Given the description of an element on the screen output the (x, y) to click on. 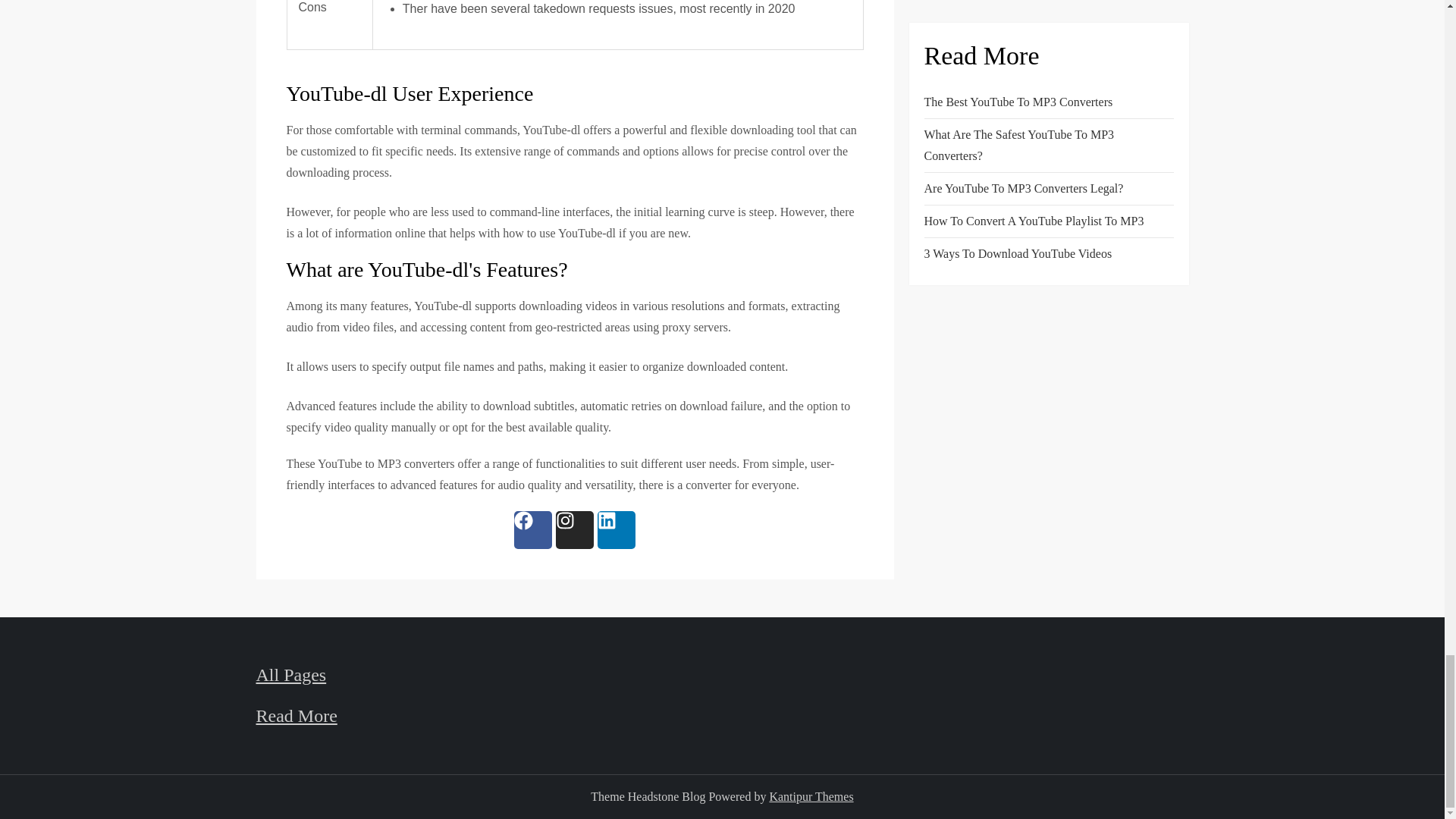
Kantipur Themes (810, 796)
All Pages (291, 674)
Read More (296, 715)
